Given the description of an element on the screen output the (x, y) to click on. 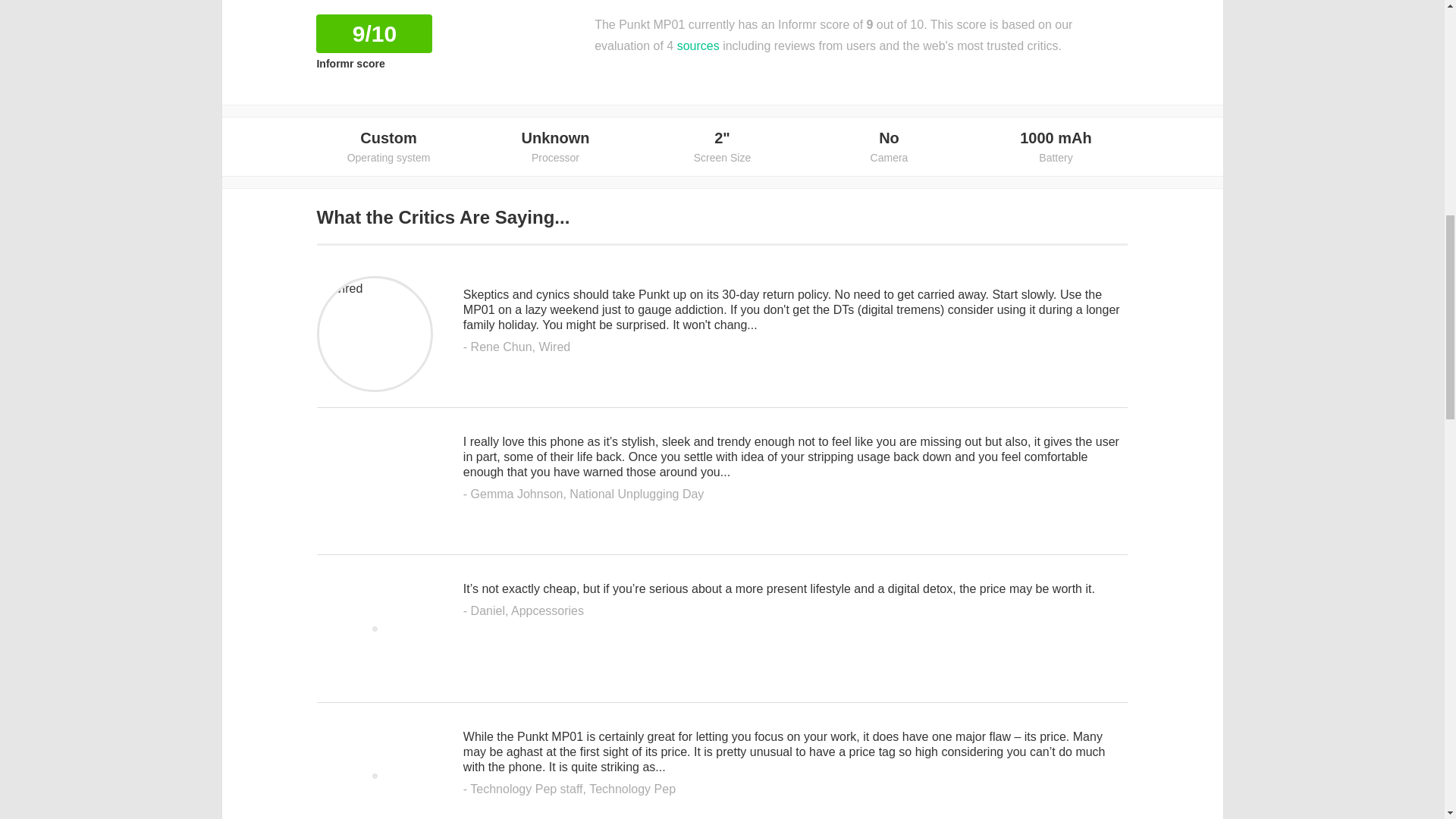
sources (698, 45)
